Given the description of an element on the screen output the (x, y) to click on. 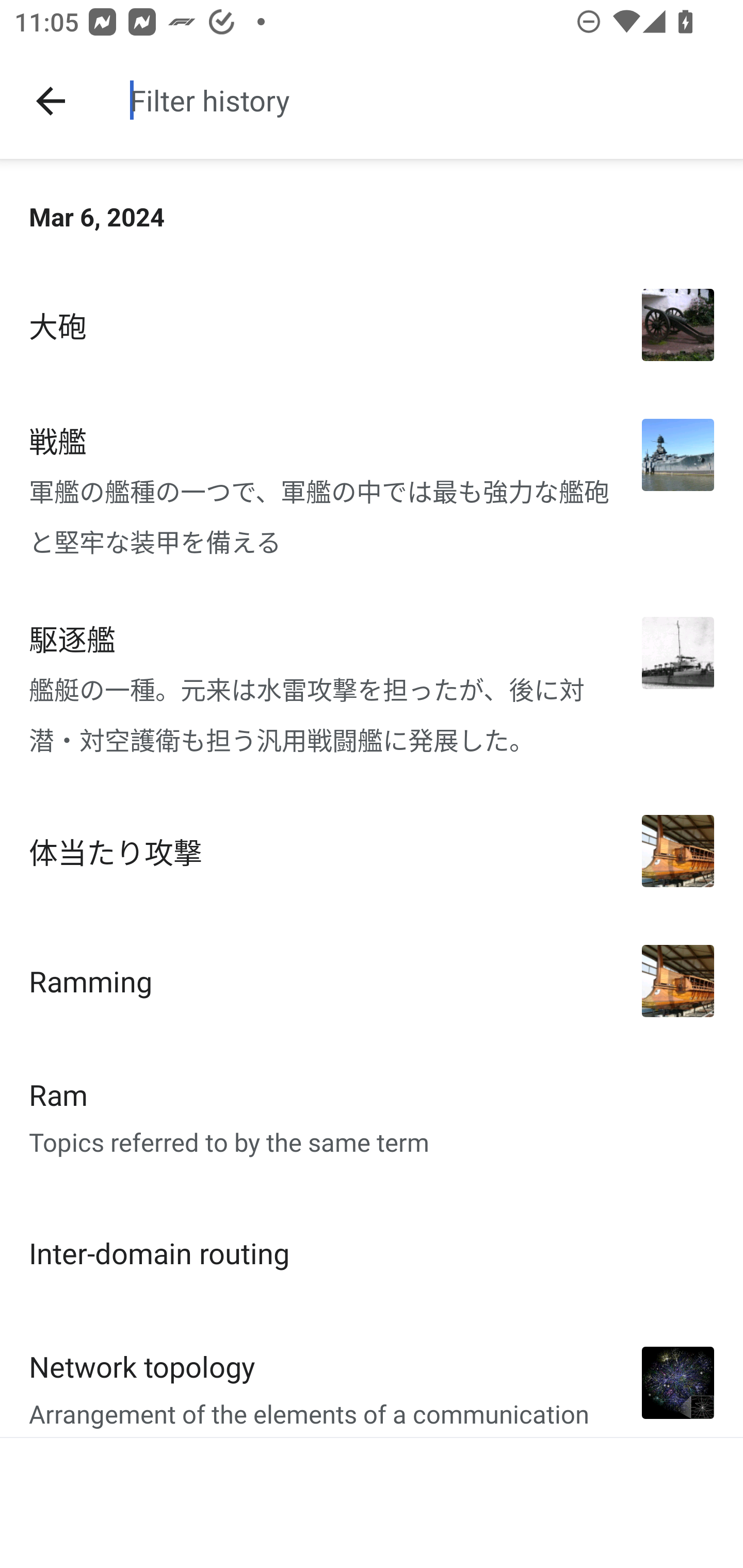
Done (50, 101)
Filter history (429, 100)
大砲 Image: 大砲 (371, 325)
戦艦 軍艦の艦種の一つで、軍艦の中では最も強力な艦砲と堅牢な装甲を備える Image: 戦艦 (371, 489)
体当たり攻撃 Image: 体当たり攻撃 (371, 850)
Ramming Image: Ramming (371, 980)
Ram Topics referred to by the same term (371, 1116)
Inter-domain routing (371, 1252)
